Given the description of an element on the screen output the (x, y) to click on. 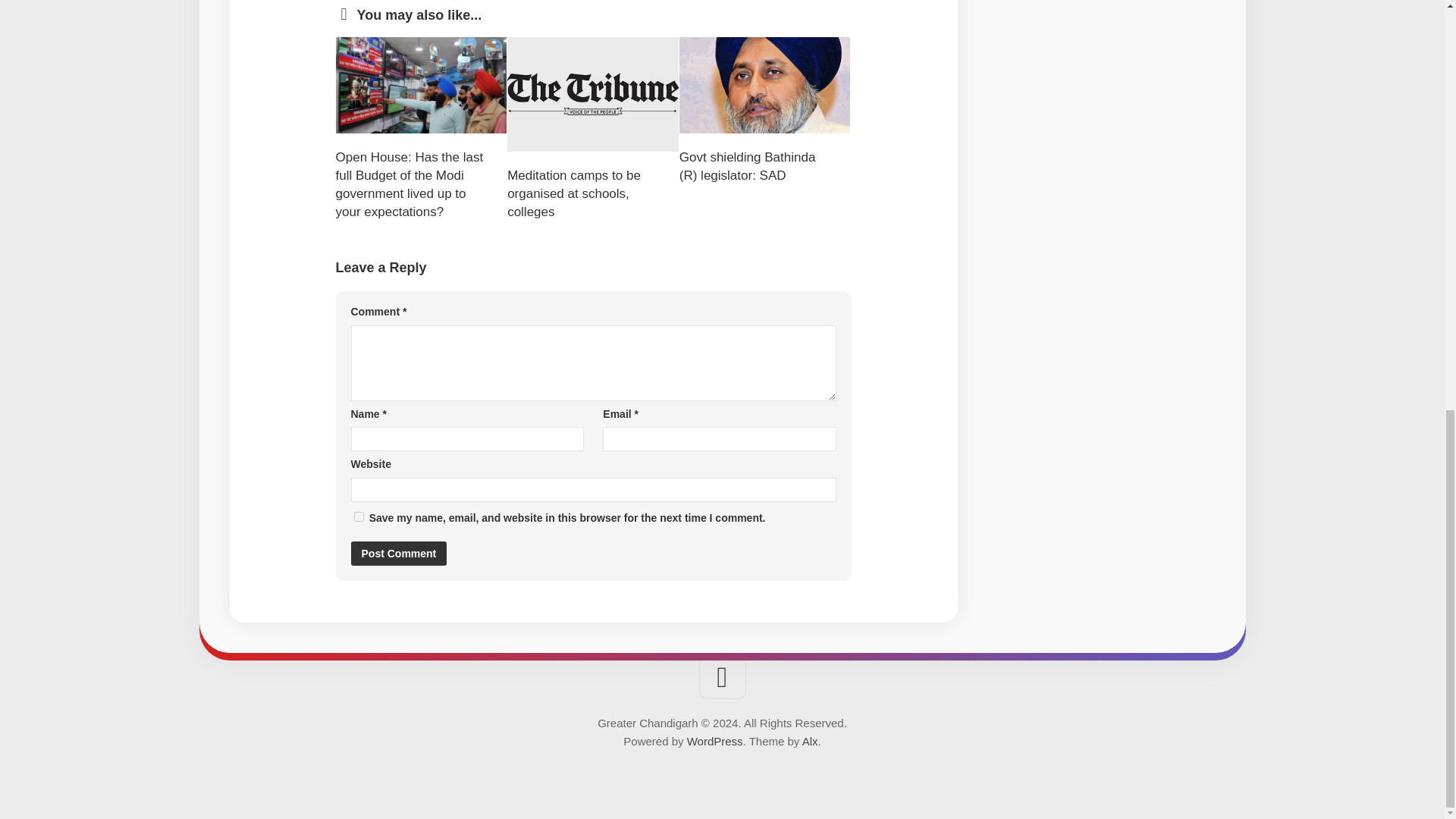
WordPress (714, 740)
Post Comment (398, 553)
Meditation camps to be organised at schools, colleges (573, 193)
Alx (810, 740)
yes (357, 516)
Post Comment (398, 553)
